Given the description of an element on the screen output the (x, y) to click on. 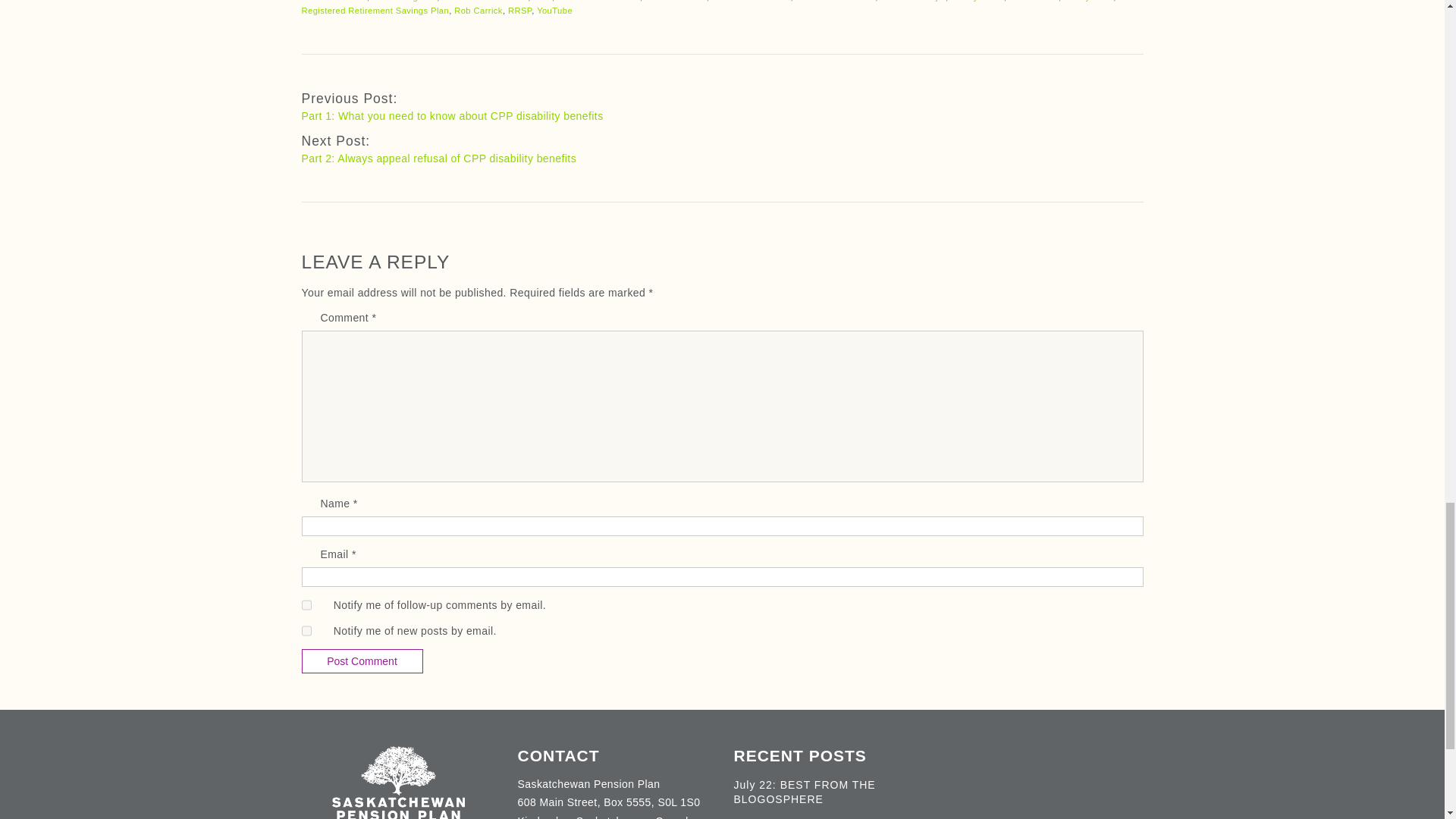
Post Comment (362, 661)
